Given the description of an element on the screen output the (x, y) to click on. 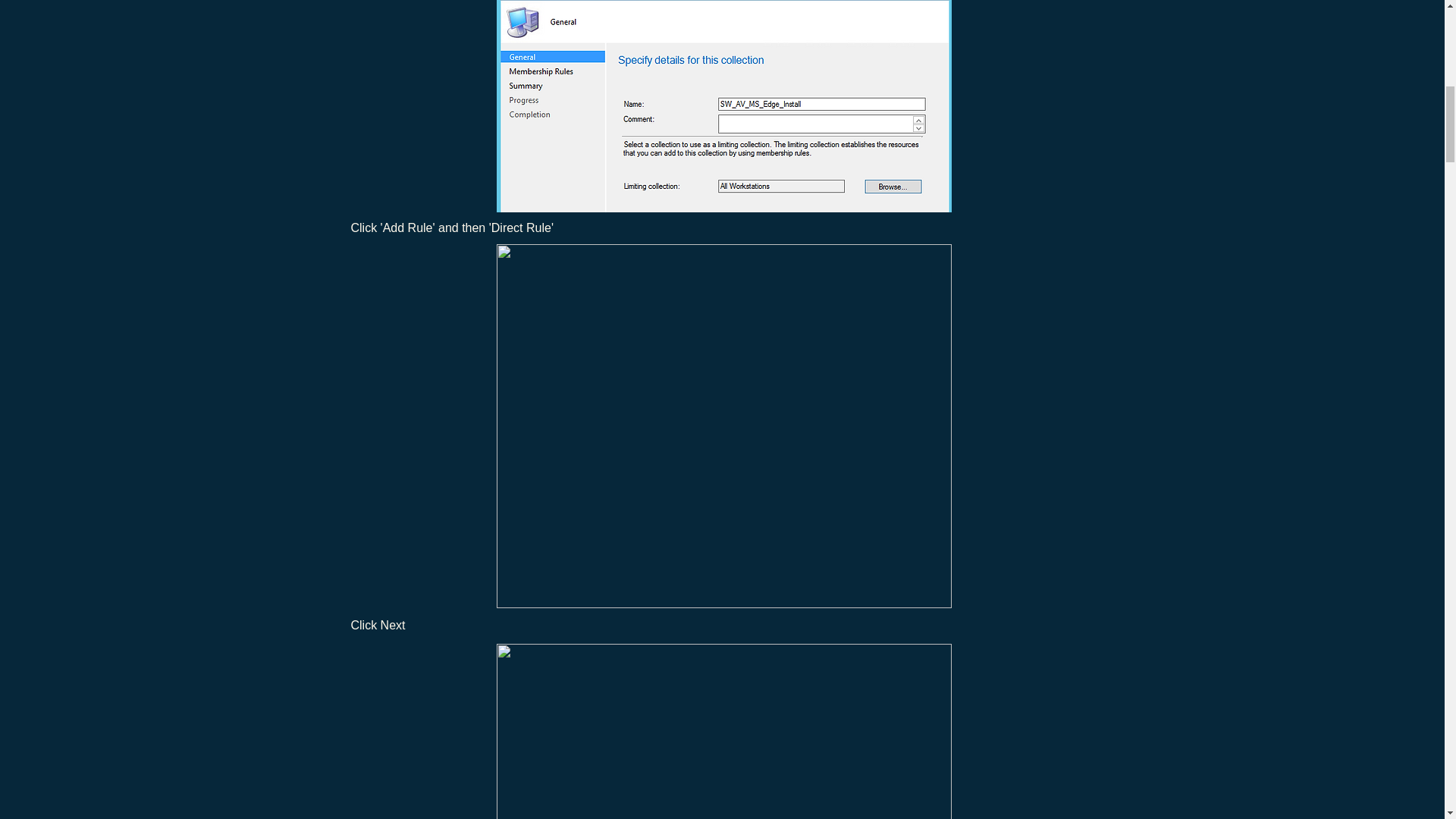
coll4.PNG (723, 731)
coll2.PNG (723, 106)
